Given the description of an element on the screen output the (x, y) to click on. 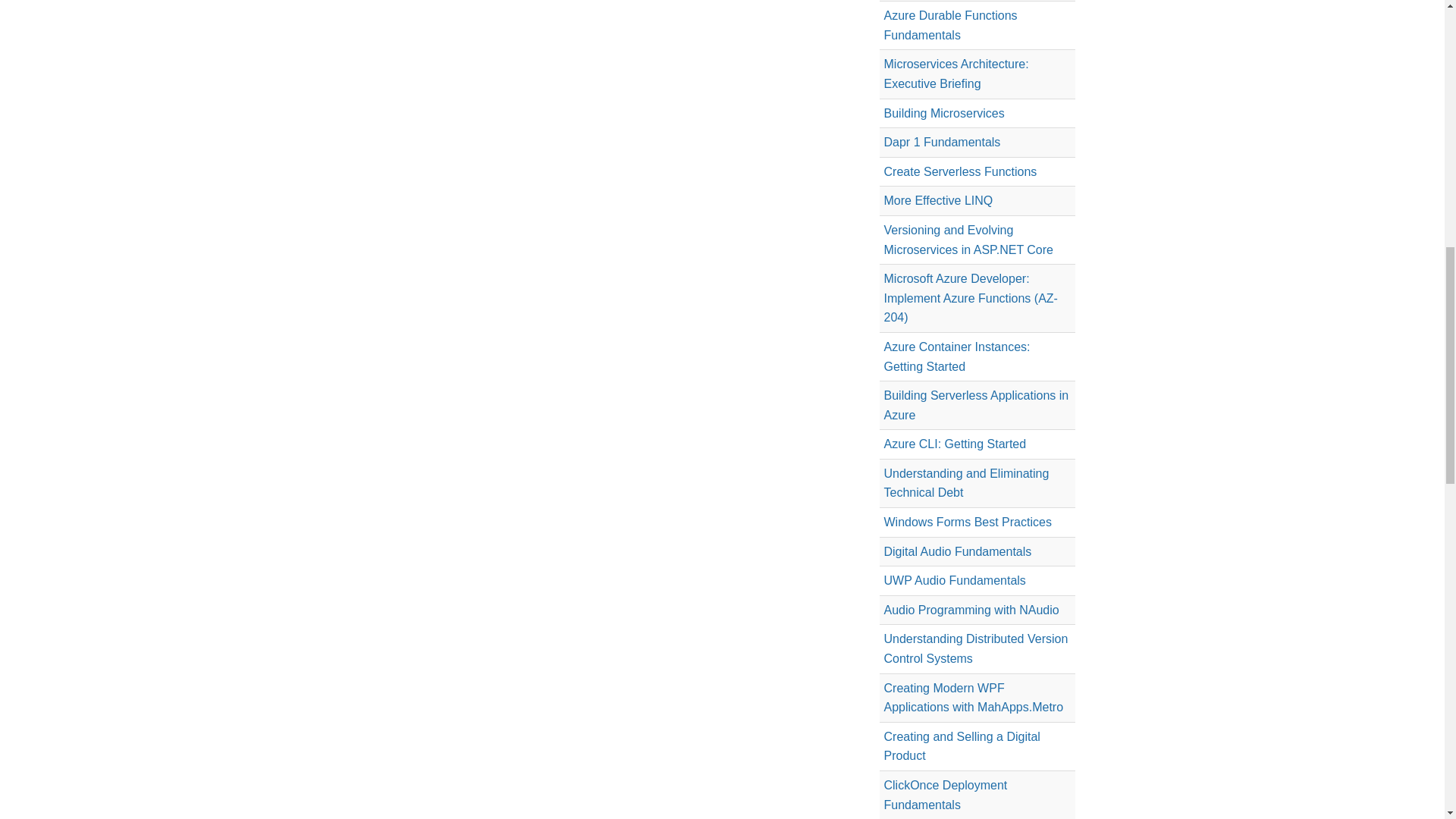
Dapr 1 Fundamentals (942, 141)
More Effective LINQ (937, 200)
Microservices Architecture: Executive Briefing (956, 73)
Versioning and Evolving Microservices in ASP.NET Core (967, 239)
UWP Audio Fundamentals (954, 580)
Azure CLI: Getting Started (954, 443)
Create Serverless Functions (959, 171)
Building Microservices (943, 113)
Building Serverless Applications in Azure (975, 405)
Understanding Distributed Version Control Systems (975, 648)
